Given the description of an element on the screen output the (x, y) to click on. 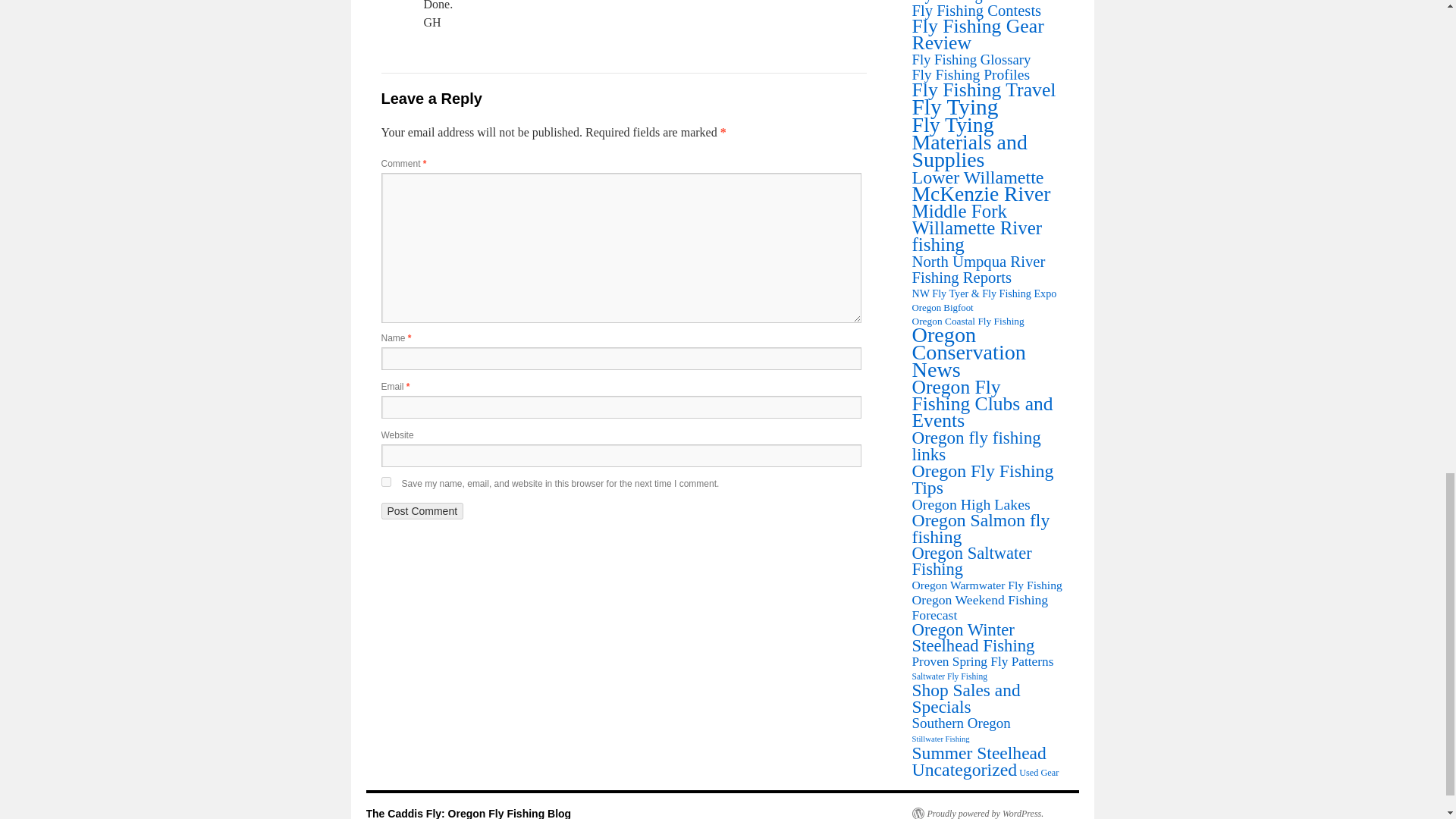
Post Comment (421, 510)
yes (385, 481)
Post Comment (421, 510)
